Given the description of an element on the screen output the (x, y) to click on. 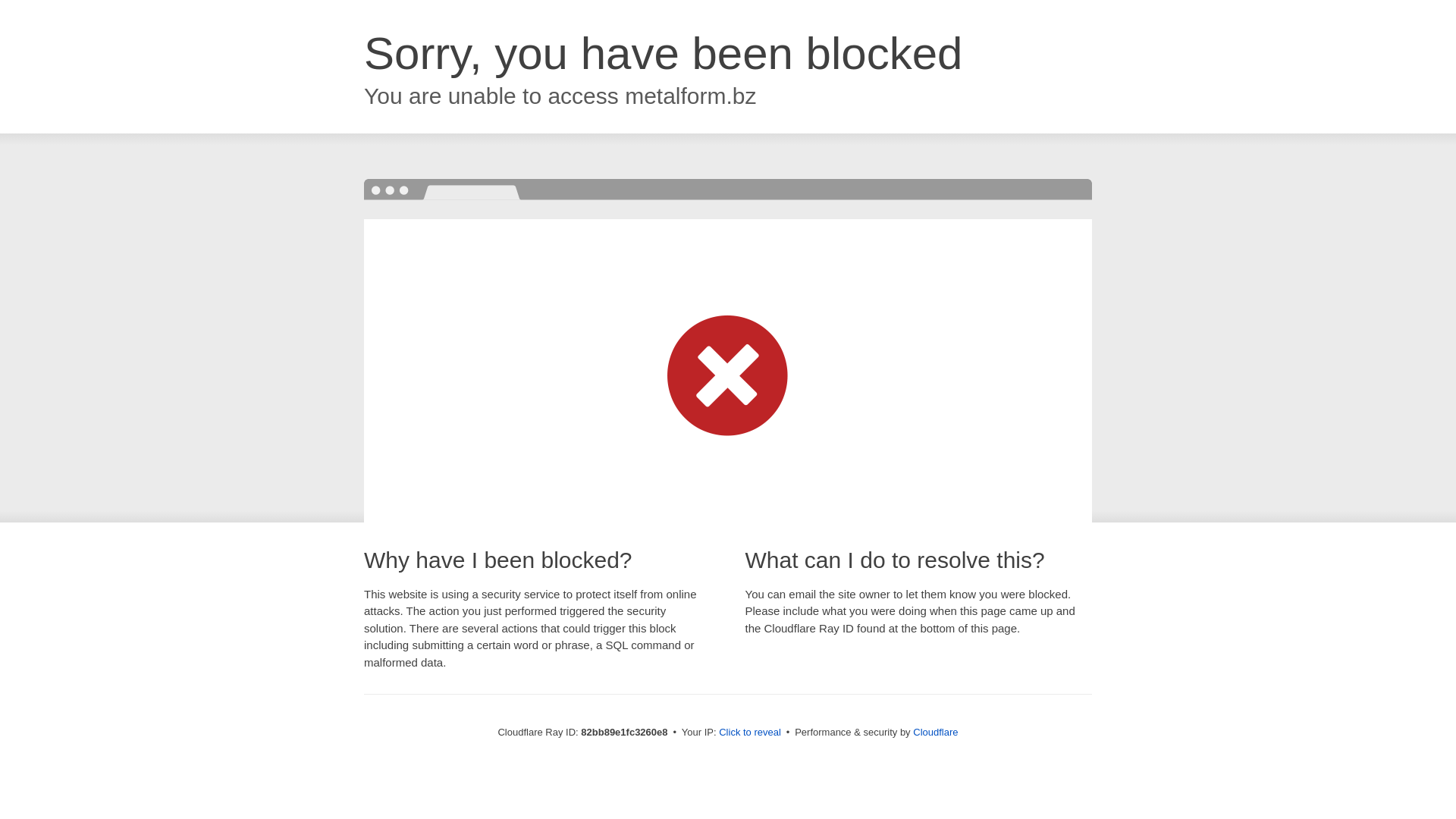
Cloudflare Element type: text (935, 731)
Click to reveal Element type: text (749, 732)
